Given the description of an element on the screen output the (x, y) to click on. 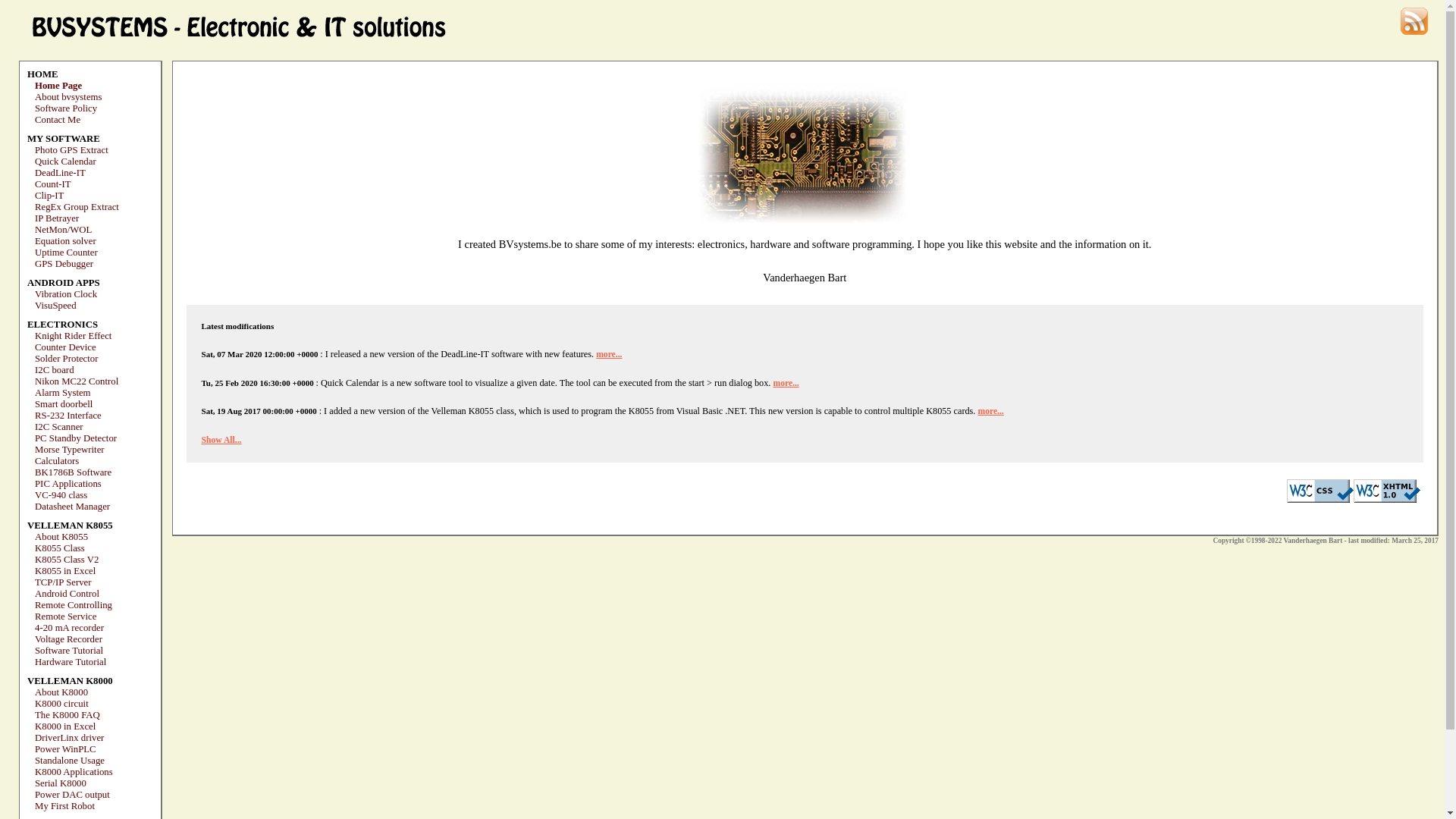
About K8055 Element type: text (60, 536)
Alarm System Element type: text (62, 392)
About K8000 Element type: text (60, 692)
more... Element type: text (785, 383)
RS-232 Interface Element type: text (67, 415)
I2C Scanner Element type: text (58, 426)
Counter Device Element type: text (65, 347)
Show All... Element type: text (221, 440)
About bvsystems Element type: text (68, 96)
Smart doorbell Element type: text (63, 403)
GPS Debugger Element type: text (63, 263)
Clip-IT Element type: text (48, 195)
Uptime Counter Element type: text (65, 252)
Contact Me Element type: text (57, 119)
DeadLine-IT Element type: text (59, 172)
VC-940 class Element type: text (60, 494)
more... Element type: text (990, 411)
Datasheet Manager Element type: text (71, 506)
Quick Calendar Element type: text (65, 161)
K8055 in Excel Element type: text (64, 570)
BK1786B Software Element type: text (72, 472)
4-20 mA recorder Element type: text (68, 627)
Solder Protector Element type: text (66, 358)
Voltage Recorder Element type: text (68, 638)
Vibration Clock Element type: text (65, 293)
IP Betrayer Element type: text (56, 218)
PC Standby Detector Element type: text (75, 438)
Knight Rider Effect Element type: text (72, 335)
Standalone Usage Element type: text (69, 760)
Calculators Element type: text (56, 460)
Count-IT Element type: text (52, 183)
The K8000 FAQ Element type: text (67, 714)
Remote Controlling Element type: text (73, 604)
I2C board Element type: text (54, 369)
Home Page Element type: text (57, 85)
K8000 circuit Element type: text (61, 703)
Power WinPLC Element type: text (65, 748)
HOME Element type: text (42, 74)
Hardware Tutorial Element type: text (70, 661)
more... Element type: text (608, 354)
Software Policy Element type: text (65, 108)
Nikon MC22 Control Element type: text (76, 381)
NetMon/WOL Element type: text (62, 229)
VisuSpeed Element type: text (55, 305)
Photo GPS Extract Element type: text (71, 149)
Equation solver Element type: text (65, 240)
PIC Applications Element type: text (67, 483)
My First Robot Element type: text (64, 805)
K8000 Applications Element type: text (73, 771)
DriverLinx driver Element type: text (68, 737)
TCP/IP Server Element type: text (62, 582)
Remote Service Element type: text (65, 616)
Power DAC output Element type: text (71, 794)
Serial K8000 Element type: text (60, 783)
RegEx Group Extract Element type: text (76, 206)
Software Tutorial Element type: text (68, 650)
K8055 Class Element type: text (59, 547)
K8055 Class V2 Element type: text (66, 559)
Android Control Element type: text (66, 593)
K8000 in Excel Element type: text (64, 726)
Morse Typewriter Element type: text (69, 449)
